Given the description of an element on the screen output the (x, y) to click on. 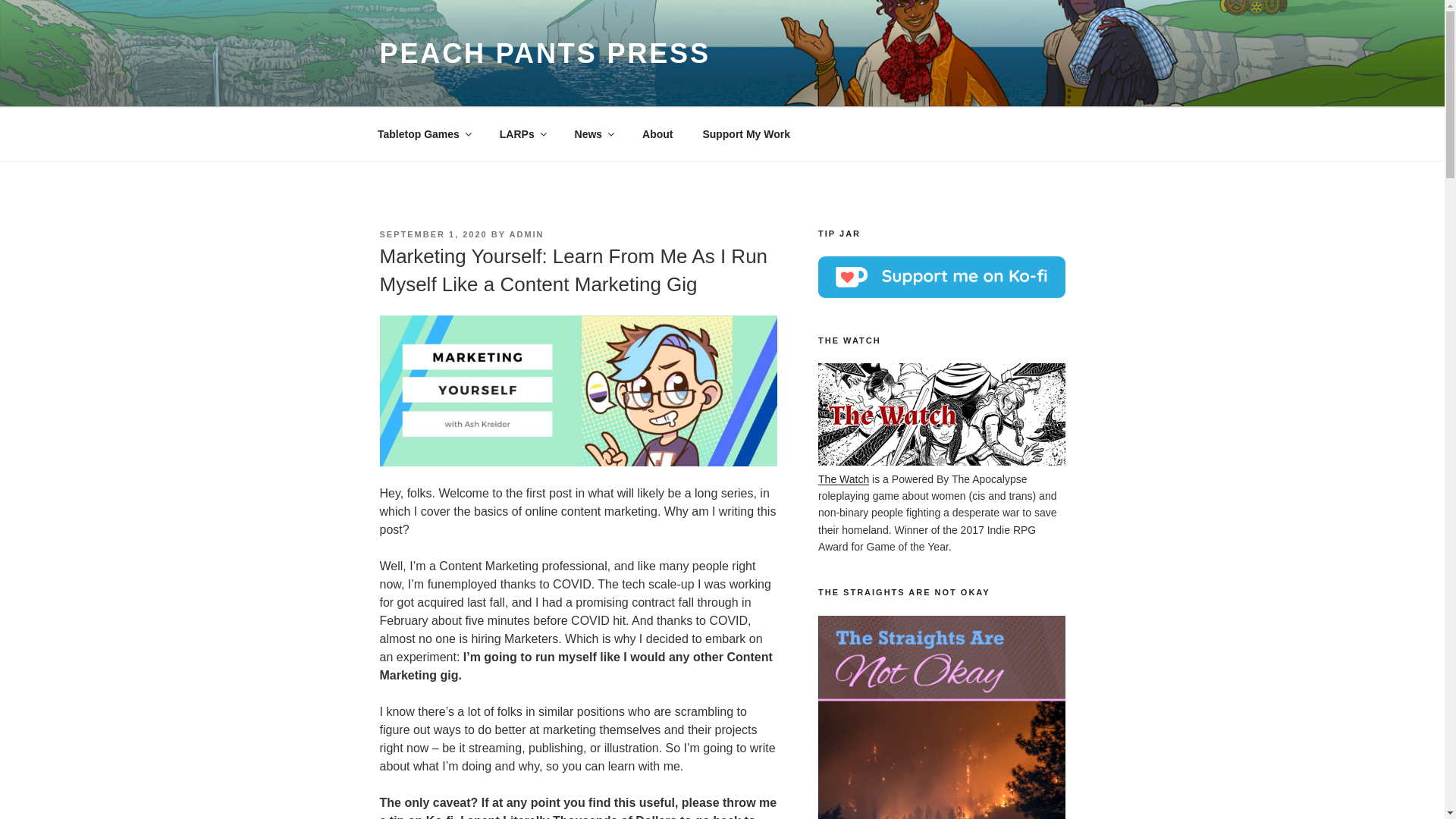
News (593, 133)
The Watch (843, 479)
PEACH PANTS PRESS (544, 52)
Tabletop Games (423, 133)
LARPs (521, 133)
About (656, 133)
ADMIN (526, 234)
SEPTEMBER 1, 2020 (432, 234)
Support My Work (745, 133)
